Given the description of an element on the screen output the (x, y) to click on. 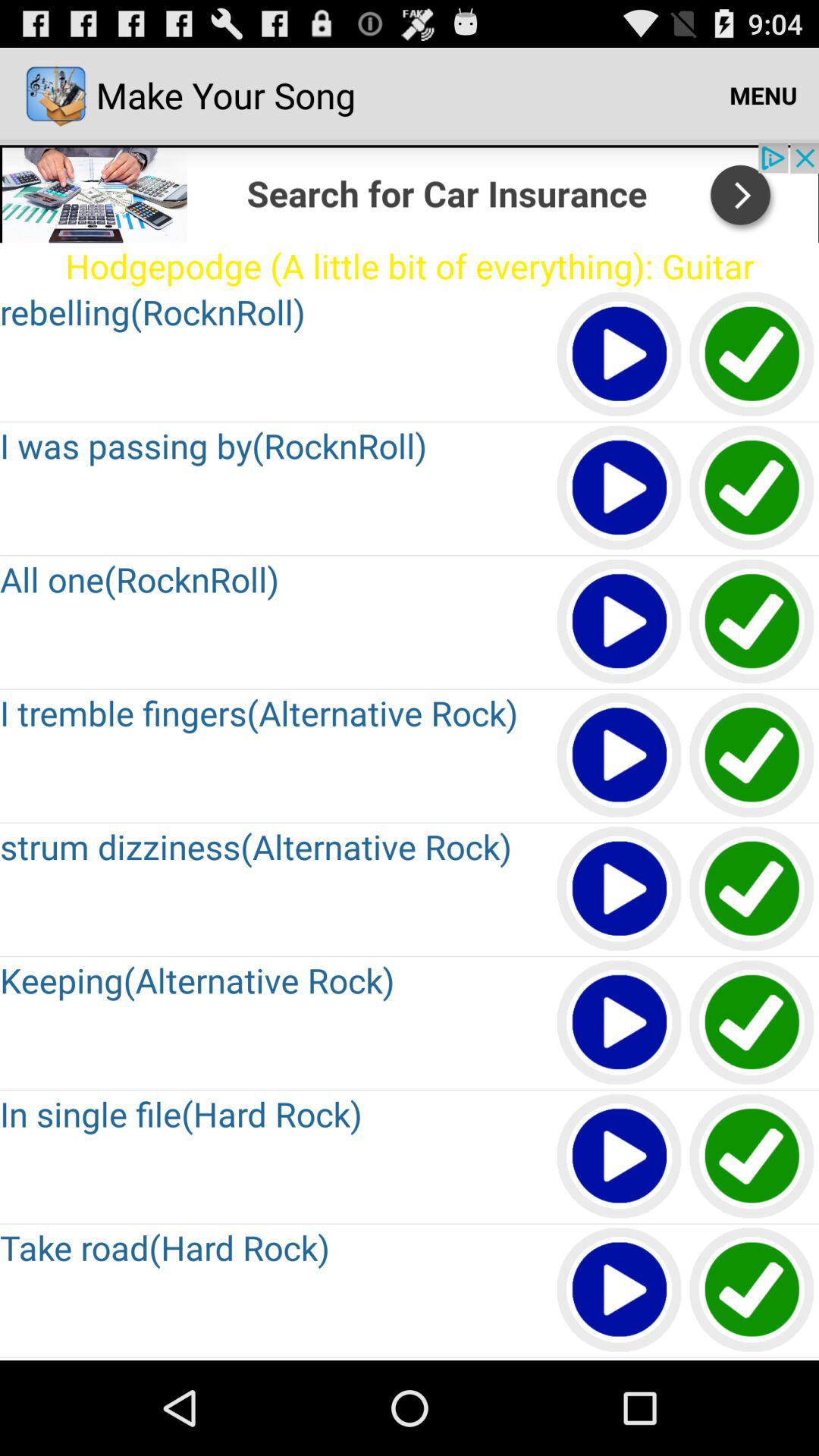
go to next (619, 889)
